Given the description of an element on the screen output the (x, y) to click on. 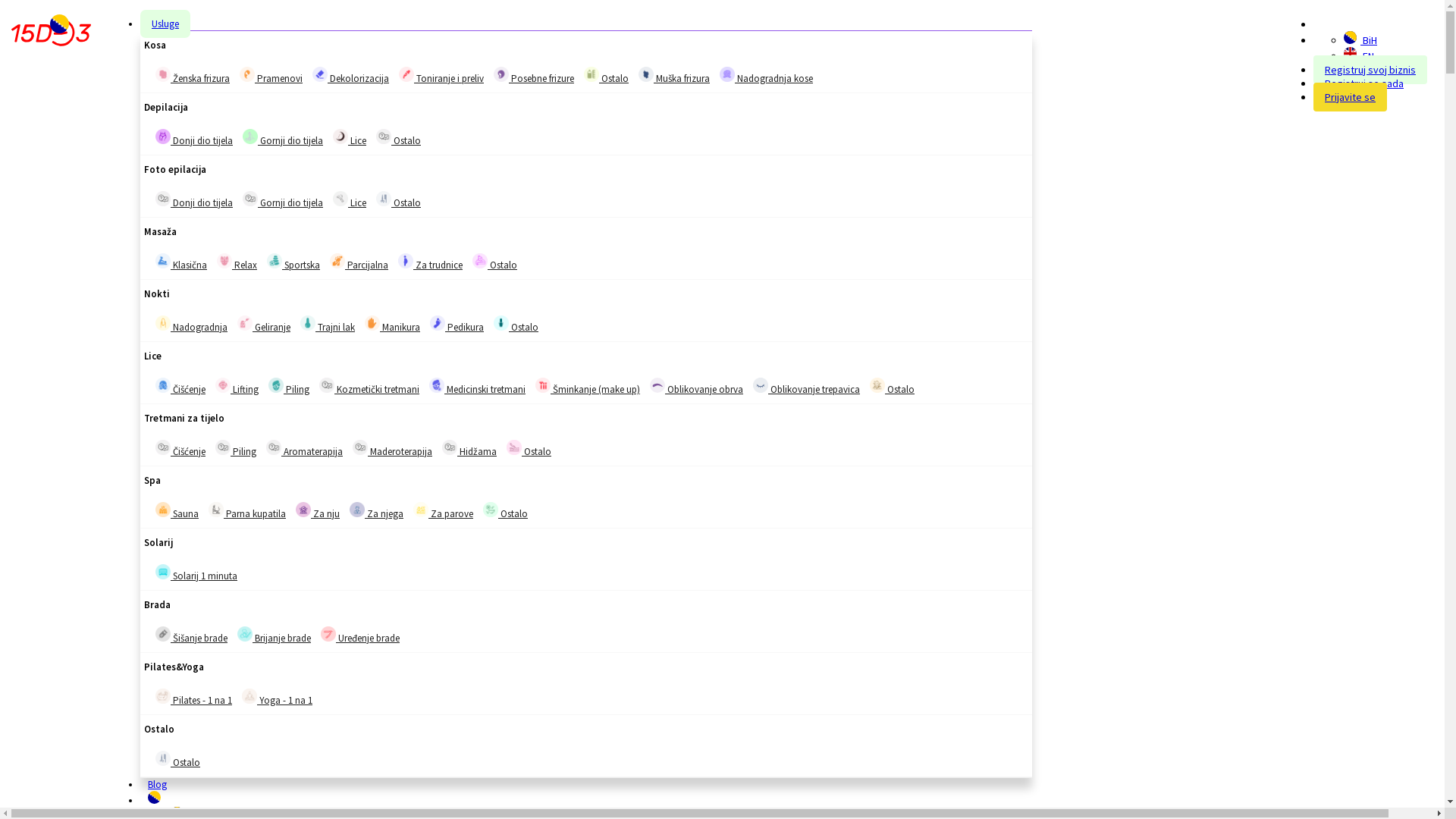
Posebne frizure Element type: text (533, 75)
Parna kupatila Element type: hover (215, 509)
Posebne frizure Element type: hover (500, 73)
Sportska Element type: hover (274, 260)
Donji dio tijela Element type: text (193, 137)
Pramenovi Element type: hover (246, 73)
Donji dio tijela Element type: text (193, 199)
Ostalo Element type: hover (490, 509)
Lice Element type: text (349, 199)
Parcijalna Element type: hover (337, 260)
Manikura Element type: text (391, 324)
15do3 - Online rezervacija termina Element type: hover (51, 32)
Yoga - 1 na 1 Element type: hover (249, 695)
Pilates - 1 na 1 Element type: text (193, 697)
Medicinski tretmani Element type: hover (436, 384)
Solarij 1 minuta Element type: hover (162, 571)
Ostalo Element type: text (177, 759)
Lice Element type: hover (340, 136)
Geliranje Element type: hover (244, 322)
Usluge Element type: text (165, 23)
Pedikura Element type: text (456, 324)
Ostalo Element type: hover (383, 198)
Pramenovi Element type: text (270, 75)
Blog Element type: text (157, 784)
BiH Element type: hover (1349, 37)
Piling Element type: hover (222, 447)
Piling Element type: hover (275, 384)
Gornji dio tijela Element type: text (282, 199)
Ostalo Element type: text (494, 262)
Ostalo Element type: text (528, 448)
Pilates - 1 na 1 Element type: hover (162, 695)
Donji dio tijela Element type: hover (162, 136)
Toniranje i preliv Element type: text (441, 75)
Ostalo Element type: text (892, 386)
Trajni lak Element type: hover (307, 322)
Za parove Element type: text (442, 510)
Brijanje brade Element type: hover (244, 633)
Sauna Element type: hover (162, 509)
Trajni lak Element type: text (327, 324)
Za nju Element type: text (317, 510)
Relax Element type: hover (224, 260)
Sauna Element type: text (176, 510)
Registruj svoj biznis Element type: text (1370, 69)
Toniranje i preliv Element type: hover (406, 73)
EN Element type: text (1358, 55)
Maderoterapija Element type: hover (359, 447)
Sportska Element type: text (293, 262)
Za njega Element type: text (376, 510)
Ostalo Element type: hover (591, 73)
Za parove Element type: hover (420, 509)
Ostalo Element type: hover (479, 260)
Gornji dio tijela Element type: hover (249, 136)
Lifting Element type: hover (222, 384)
Ostalo Element type: hover (162, 757)
Nadogradnja Element type: text (191, 324)
Parcijalna Element type: text (359, 262)
Yoga - 1 na 1 Element type: text (277, 697)
Oblikovanje obrva Element type: hover (657, 384)
Za trudnice Element type: hover (405, 260)
Registruj se sada Element type: text (1364, 83)
Ostalo Element type: hover (383, 136)
Pedikura Element type: hover (437, 322)
Geliranje Element type: text (263, 324)
Dekolorizacija Element type: text (350, 75)
Ostalo Element type: text (515, 324)
Parna kupatila Element type: text (246, 510)
Relax Element type: text (236, 262)
Aromaterapija Element type: hover (273, 447)
Manikura Element type: hover (371, 322)
Nadogradnja Element type: hover (162, 322)
Gornji dio tijela Element type: text (282, 137)
Prijavite se Element type: text (1349, 96)
Za nju Element type: hover (302, 509)
Aromaterapija Element type: text (304, 448)
Za njega Element type: hover (356, 509)
Brijanje brade Element type: text (273, 635)
Nadogradnja kose Element type: hover (726, 73)
Medicinski tretmani Element type: text (477, 386)
Lifting Element type: text (236, 386)
Oblikovanje obrva Element type: text (696, 386)
Gornji dio tijela Element type: hover (249, 198)
EN Element type: hover (1349, 53)
Ostalo Element type: text (398, 199)
Oblikovanje trepavica Element type: text (806, 386)
Nadogradnja kose Element type: text (765, 75)
Piling Element type: text (235, 448)
Lice Element type: text (349, 137)
Donji dio tijela Element type: hover (162, 198)
Maderoterapija Element type: text (392, 448)
Oblikovanje trepavica Element type: hover (760, 384)
Ostalo Element type: text (505, 510)
Za trudnice Element type: text (430, 262)
Lice Element type: hover (340, 198)
Ostalo Element type: text (606, 75)
Ostalo Element type: text (398, 137)
Ostalo Element type: hover (500, 322)
BiH Element type: text (1360, 40)
Piling Element type: text (288, 386)
Solarij 1 minuta Element type: text (196, 572)
Dekolorizacija Element type: hover (319, 73)
Ostalo Element type: hover (876, 384)
Ostalo Element type: hover (513, 447)
